Given the description of an element on the screen output the (x, y) to click on. 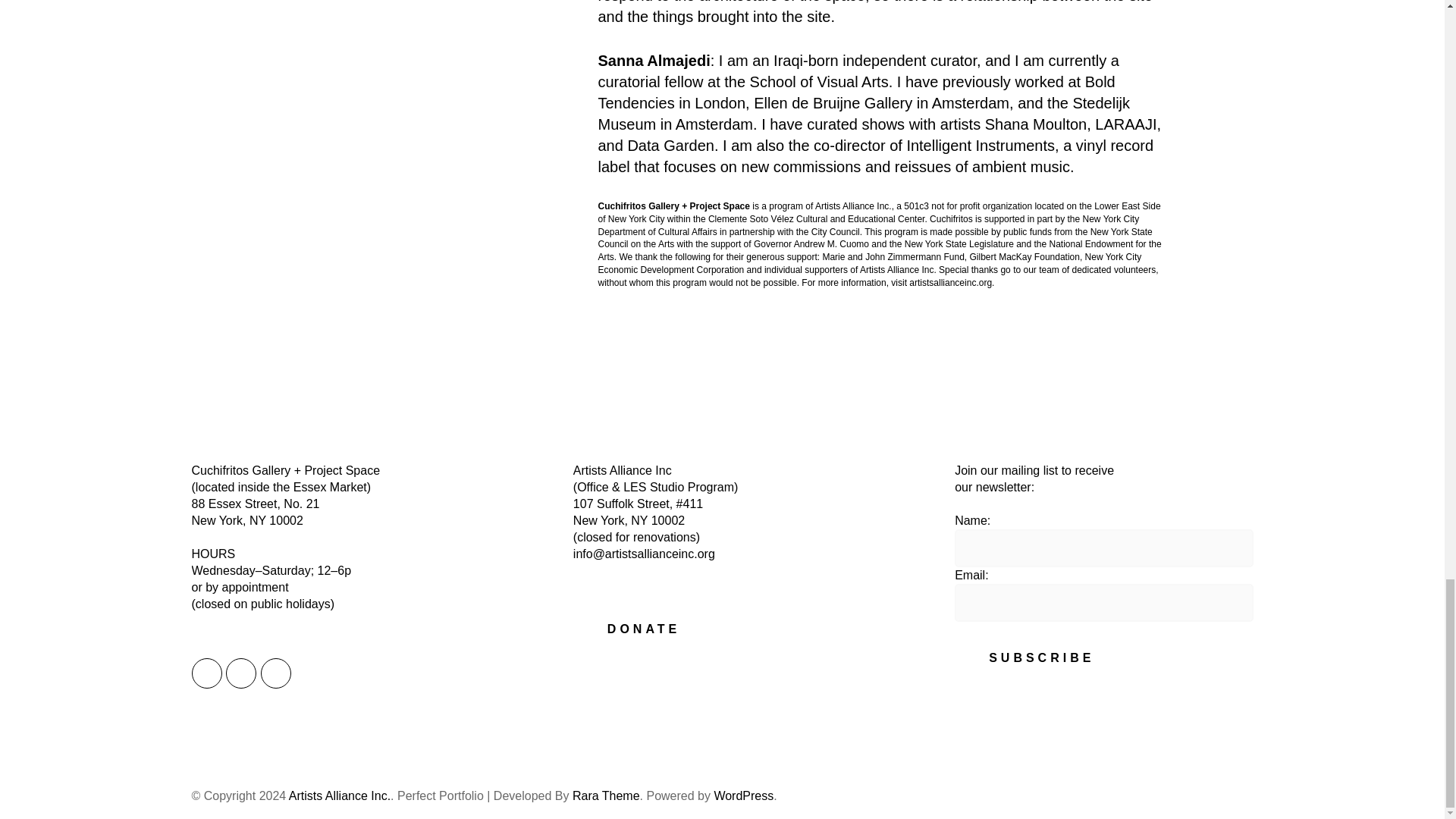
instagram (205, 673)
SUBSCRIBE (1041, 658)
facebook (275, 673)
twitter (240, 673)
